Given the description of an element on the screen output the (x, y) to click on. 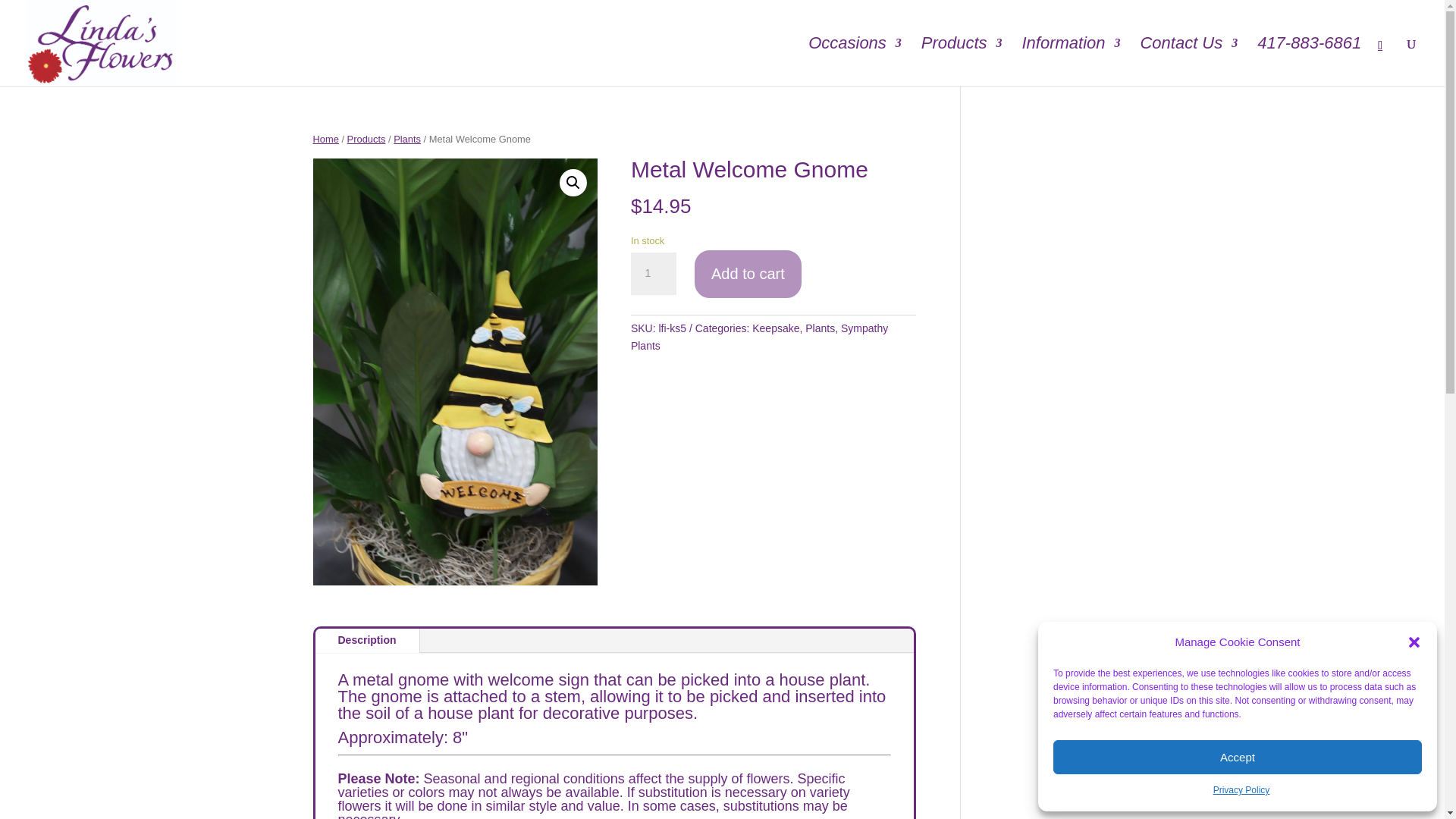
1 (653, 273)
Occasions (854, 61)
Privacy Policy (1240, 791)
Products (962, 61)
Accept (1237, 756)
